Given the description of an element on the screen output the (x, y) to click on. 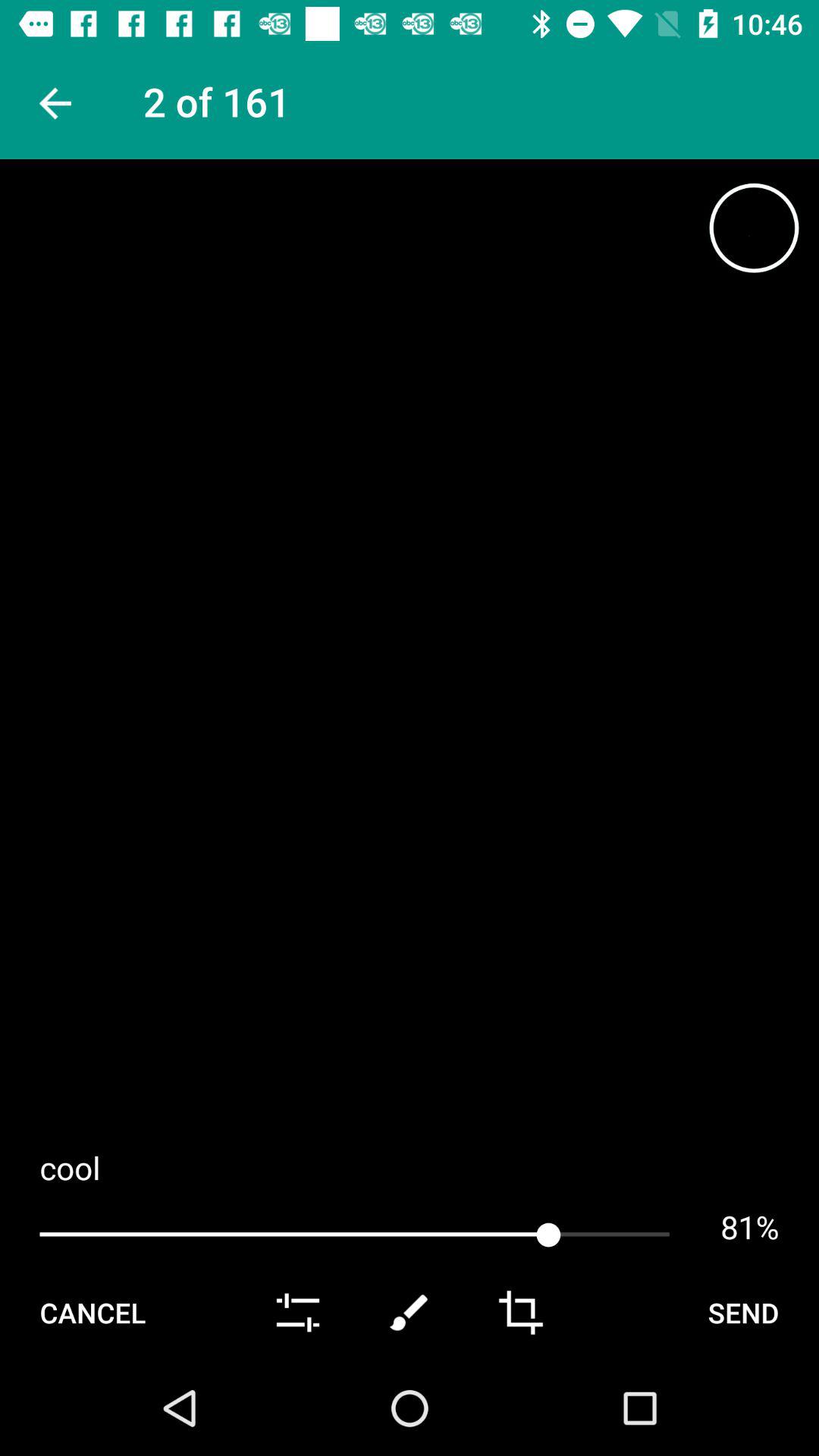
select crop option (520, 1312)
